Given the description of an element on the screen output the (x, y) to click on. 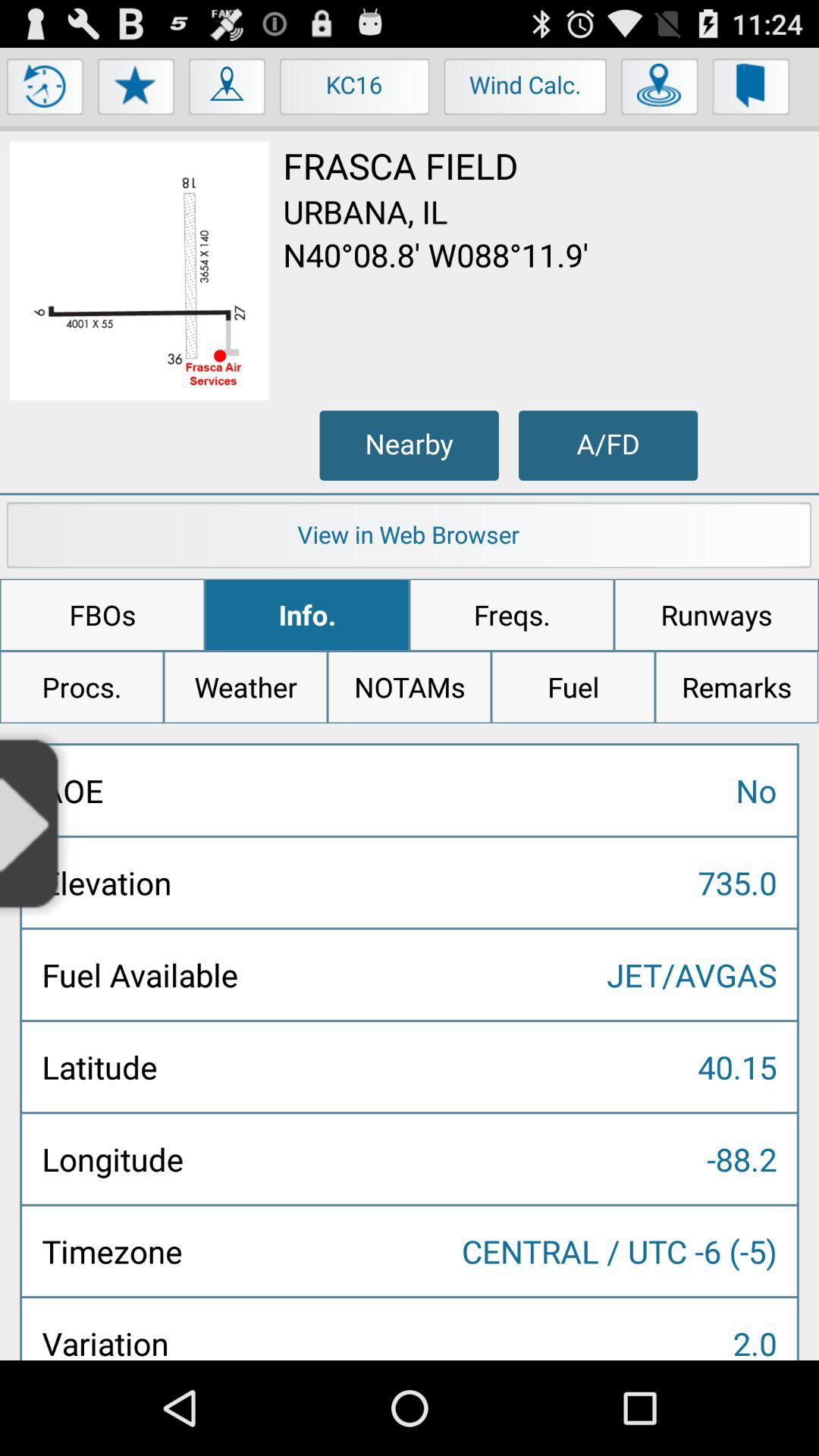
add location (659, 90)
